Given the description of an element on the screen output the (x, y) to click on. 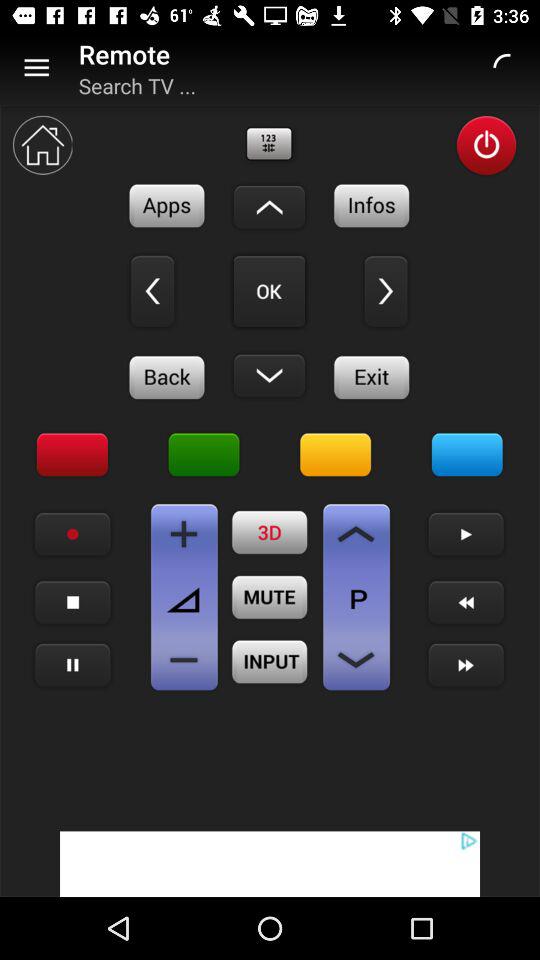
mute sound button (269, 597)
